Given the description of an element on the screen output the (x, y) to click on. 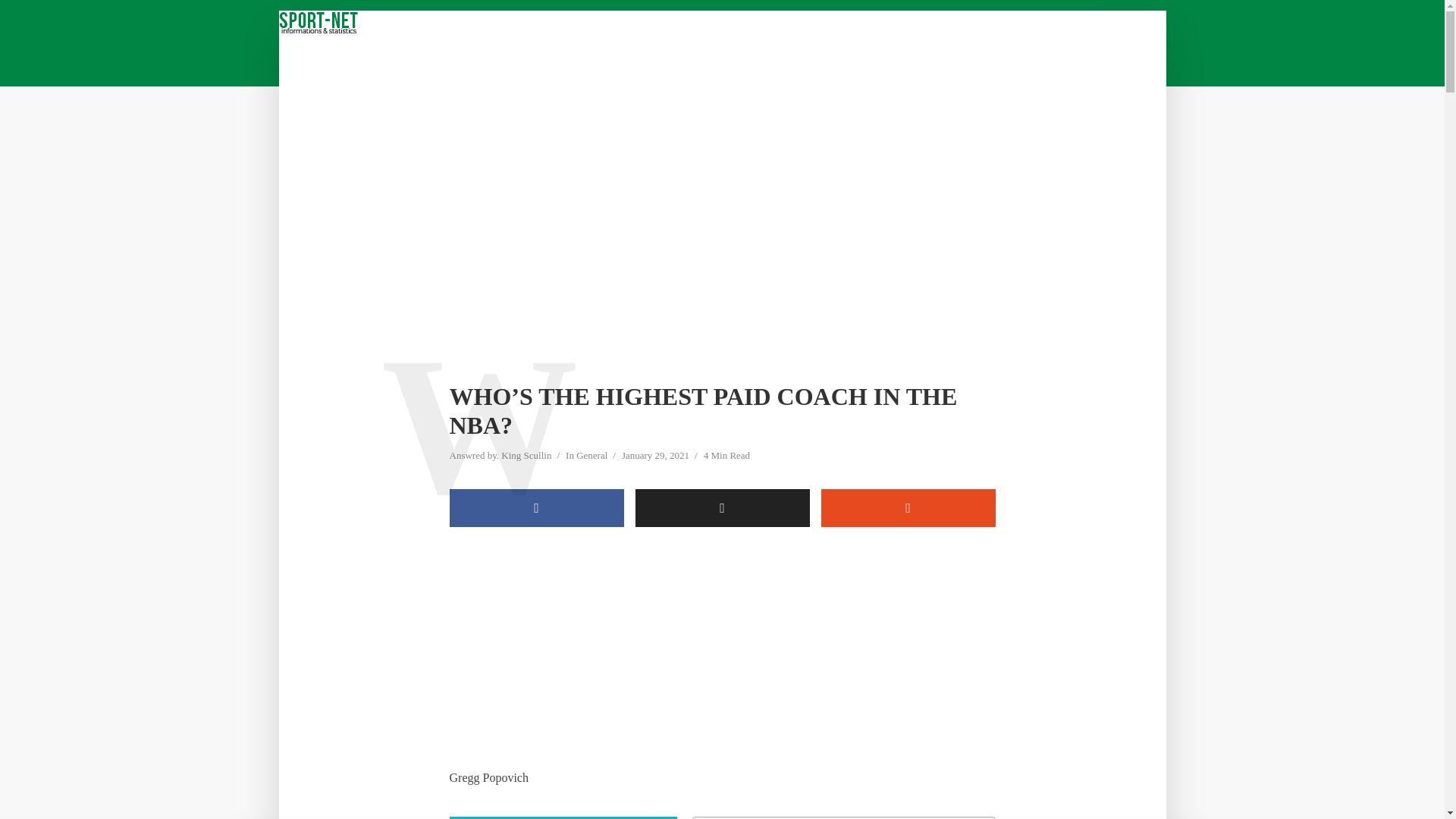
Advertisement (721, 653)
General (591, 456)
King Scullin (525, 456)
